Given the description of an element on the screen output the (x, y) to click on. 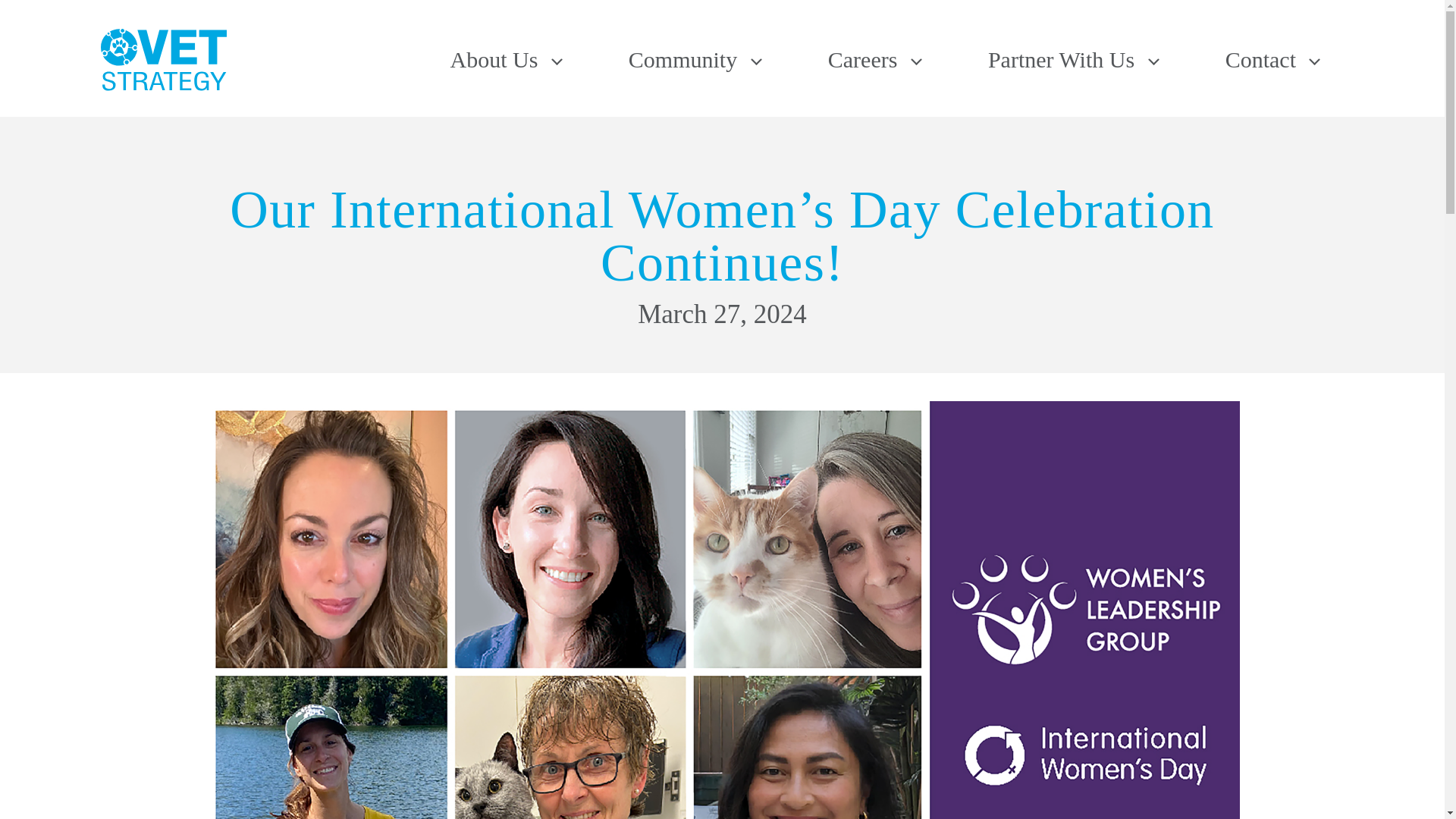
Partner With Us (1072, 59)
Community (695, 59)
Home (162, 59)
Careers (874, 59)
About Us (505, 59)
Contact (1272, 59)
